Given the description of an element on the screen output the (x, y) to click on. 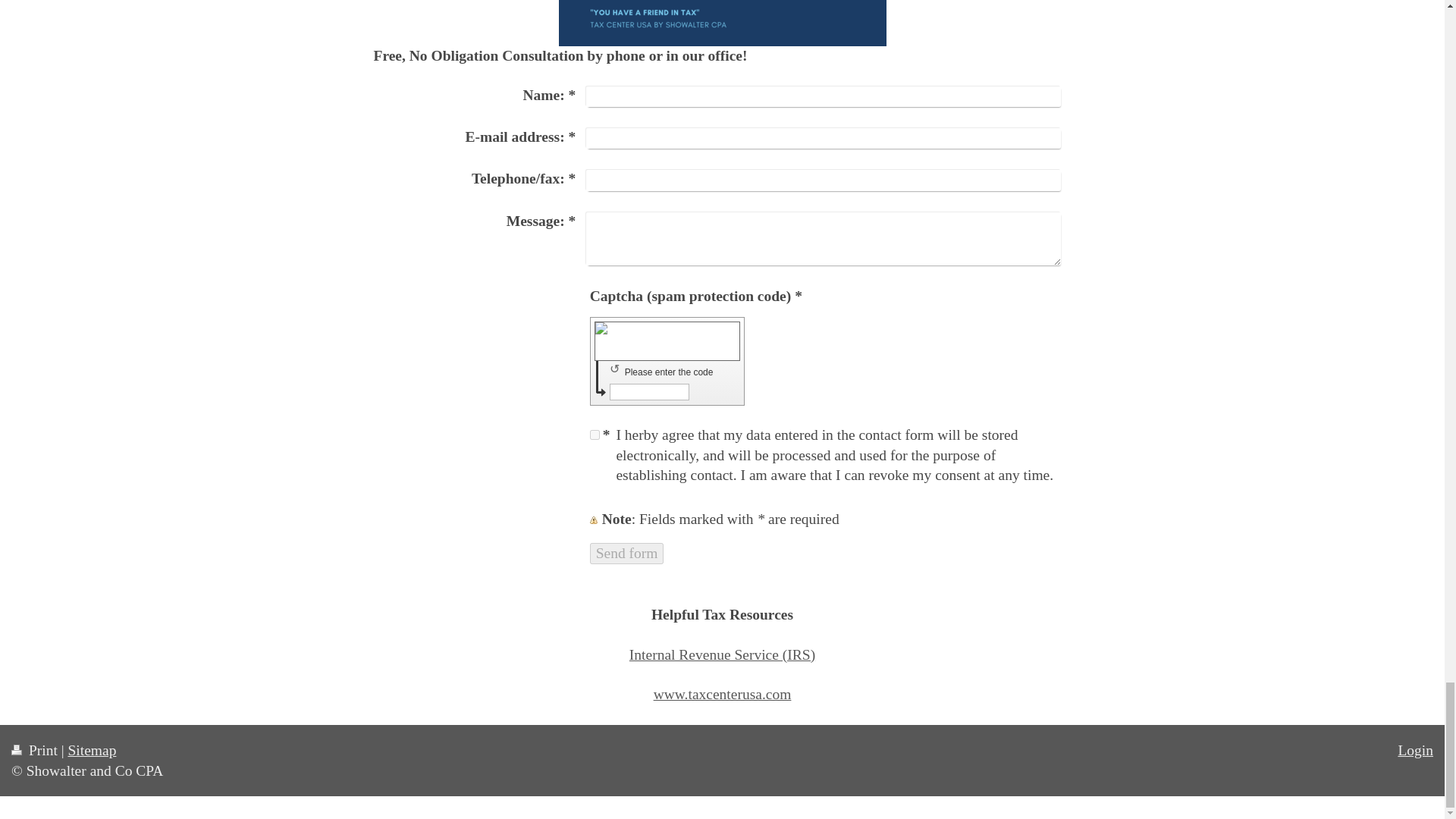
on (594, 434)
Send form (626, 553)
Generate new code (617, 368)
